Given the description of an element on the screen output the (x, y) to click on. 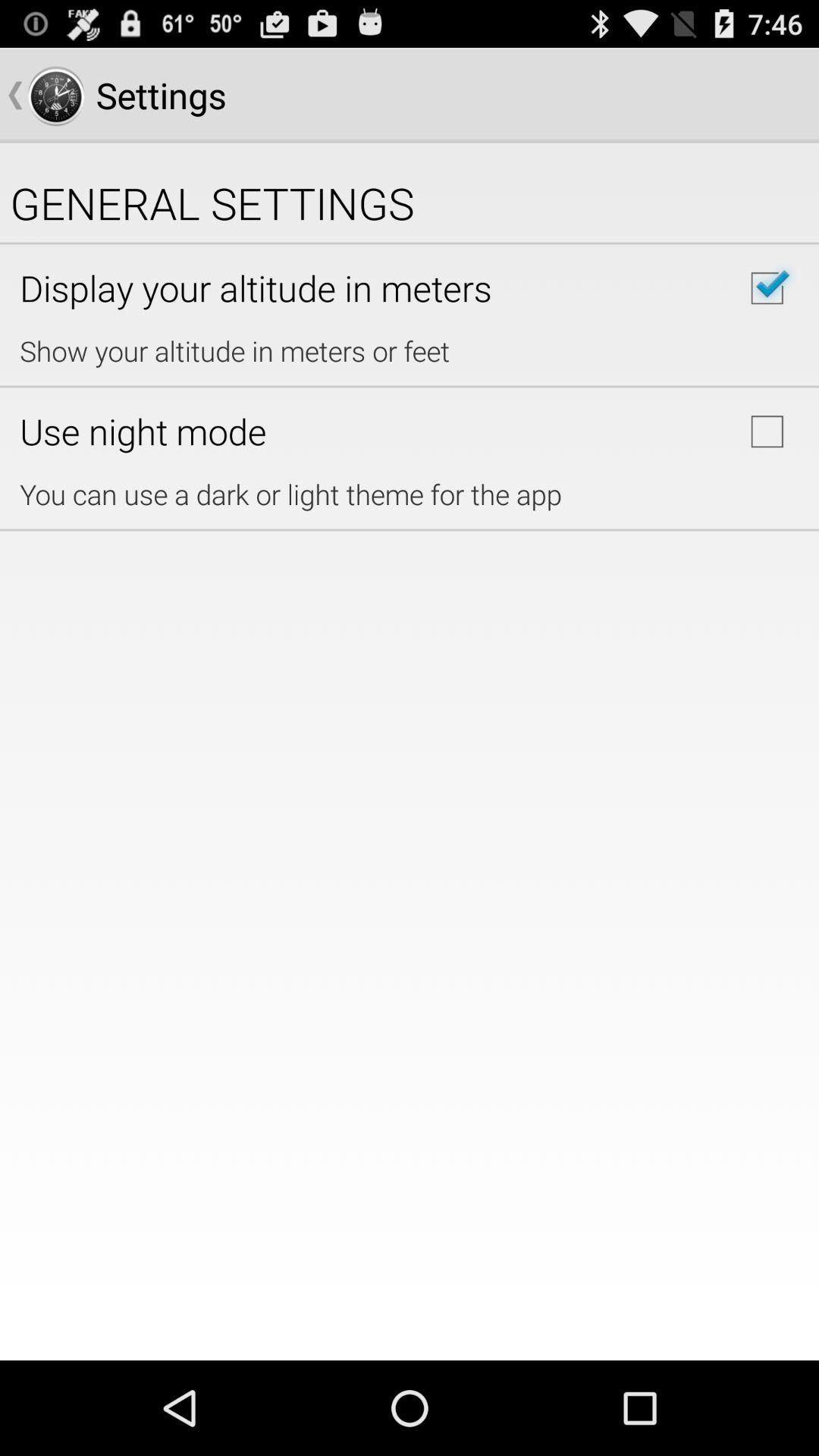
select the option to show your altitude in meters (767, 288)
